Given the description of an element on the screen output the (x, y) to click on. 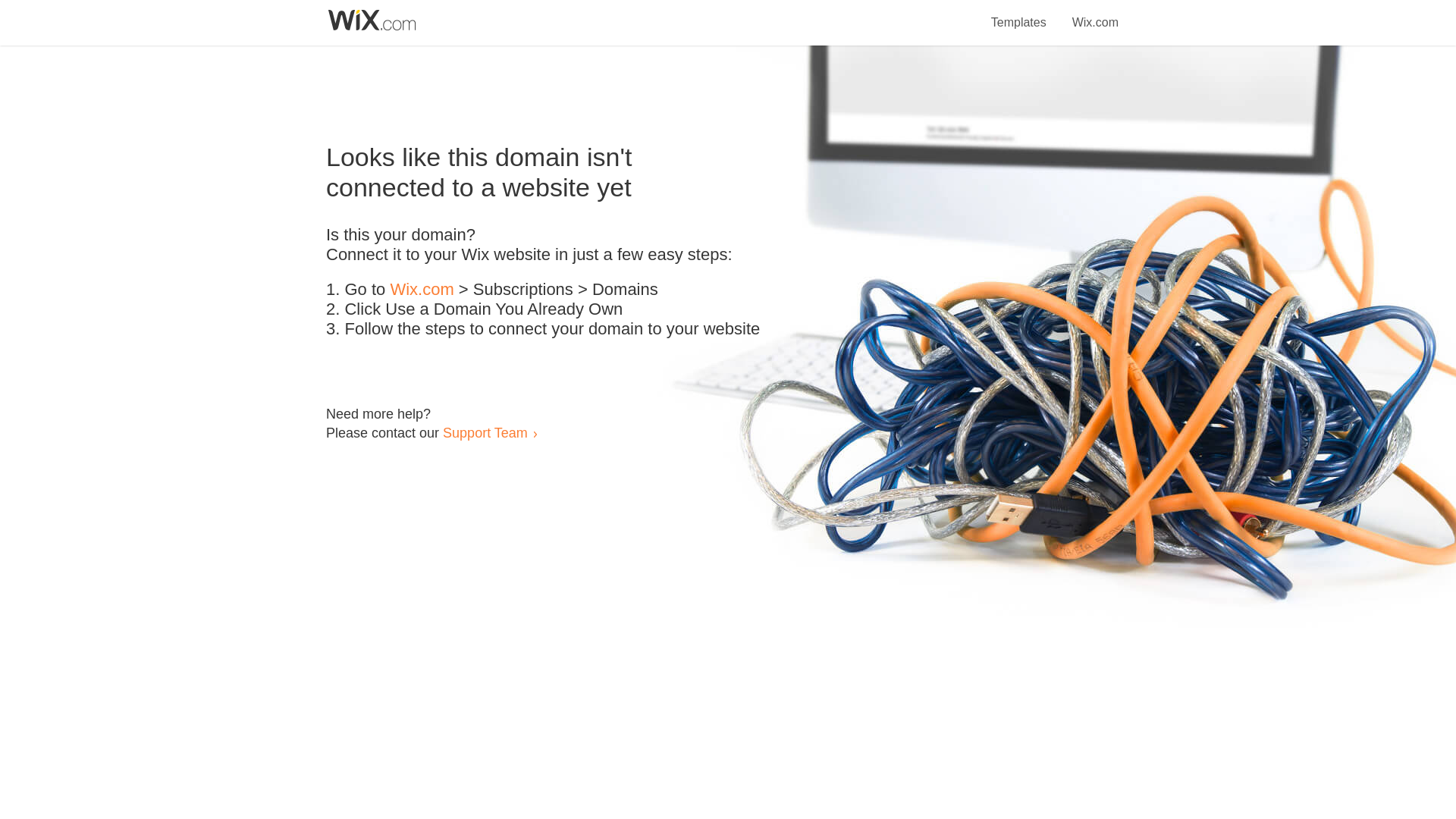
Wix.com (421, 289)
Wix.com (1095, 14)
Support Team (484, 432)
Templates (1018, 14)
